Given the description of an element on the screen output the (x, y) to click on. 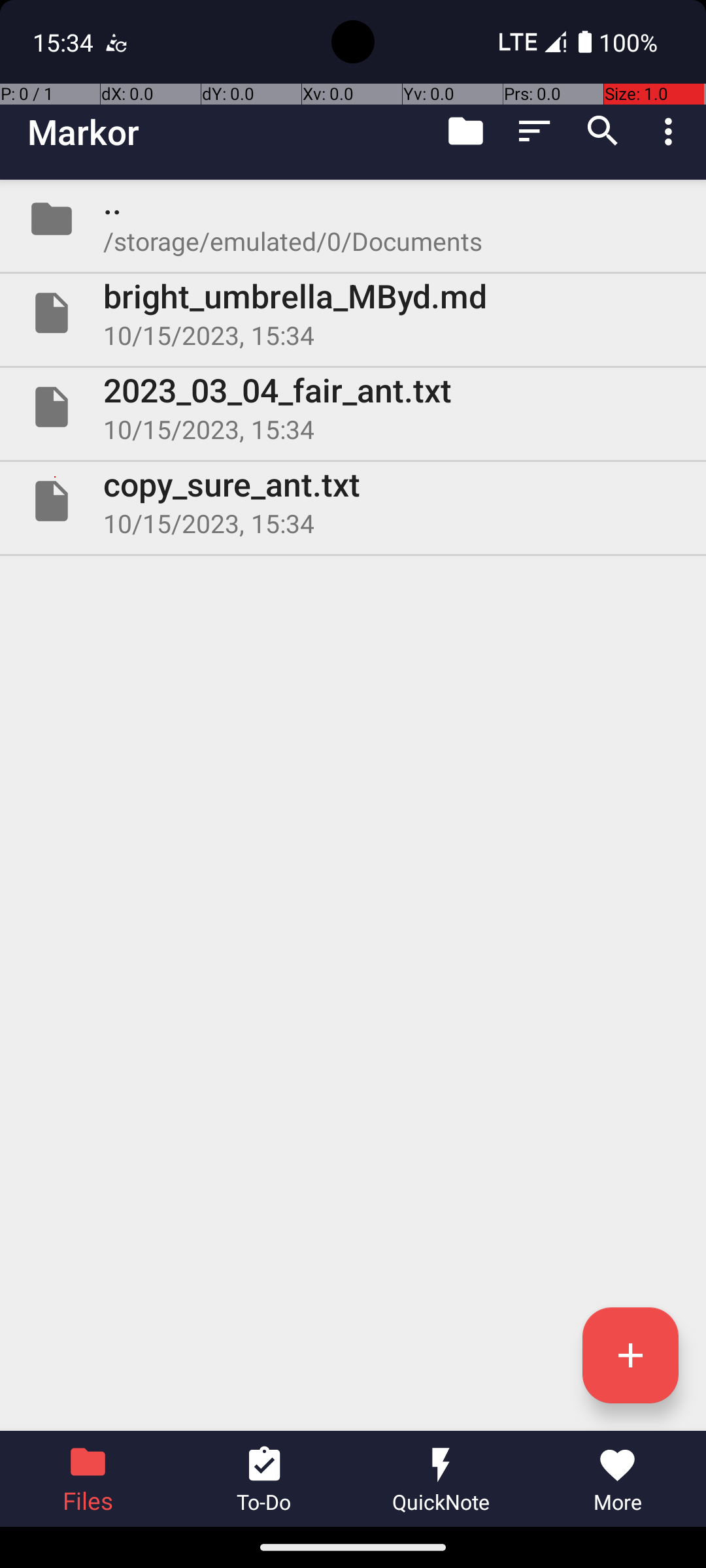
File bright_umbrella_MByd.md  Element type: android.widget.LinearLayout (353, 312)
File 2023_03_04_fair_ant.txt  Element type: android.widget.LinearLayout (353, 406)
File copy_sure_ant.txt  Element type: android.widget.LinearLayout (353, 500)
